Given the description of an element on the screen output the (x, y) to click on. 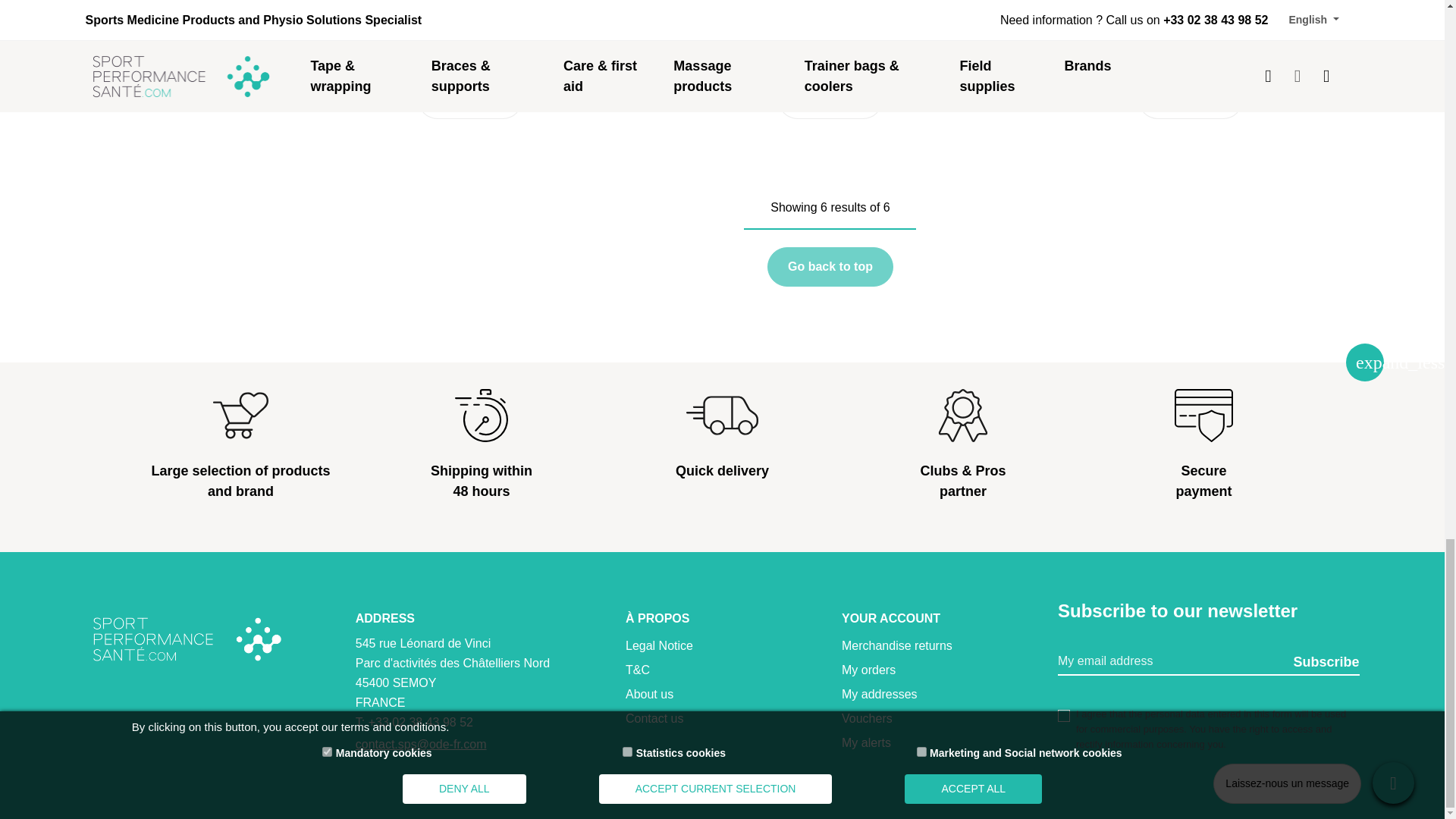
Merchandise returns (896, 645)
My addresses (879, 694)
My orders (868, 669)
Vouchers (866, 717)
Retour en haut (1364, 362)
My alerts (866, 742)
Use our form to contact us (654, 717)
